Given the description of an element on the screen output the (x, y) to click on. 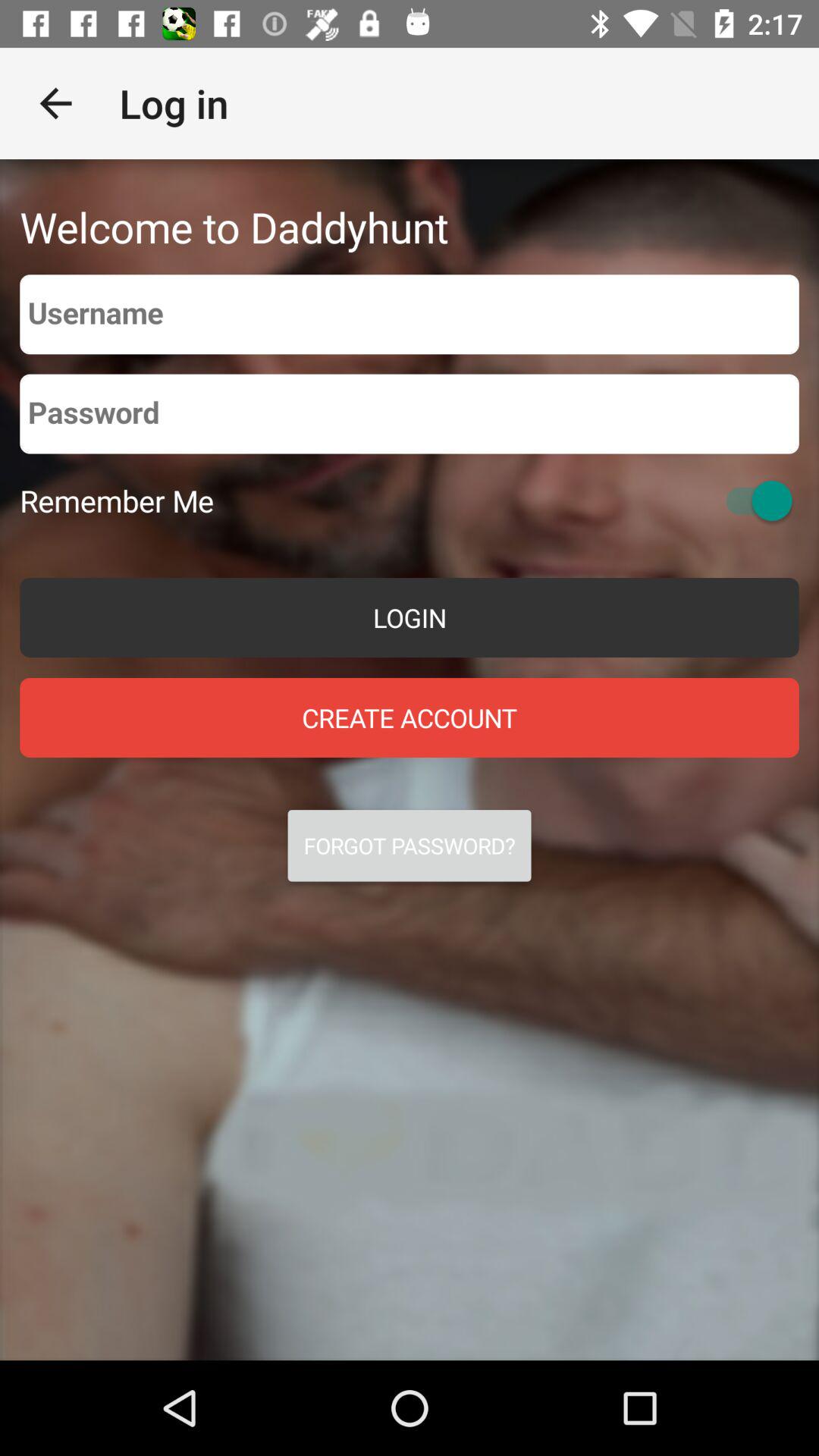
swipe to remember me icon (116, 500)
